Given the description of an element on the screen output the (x, y) to click on. 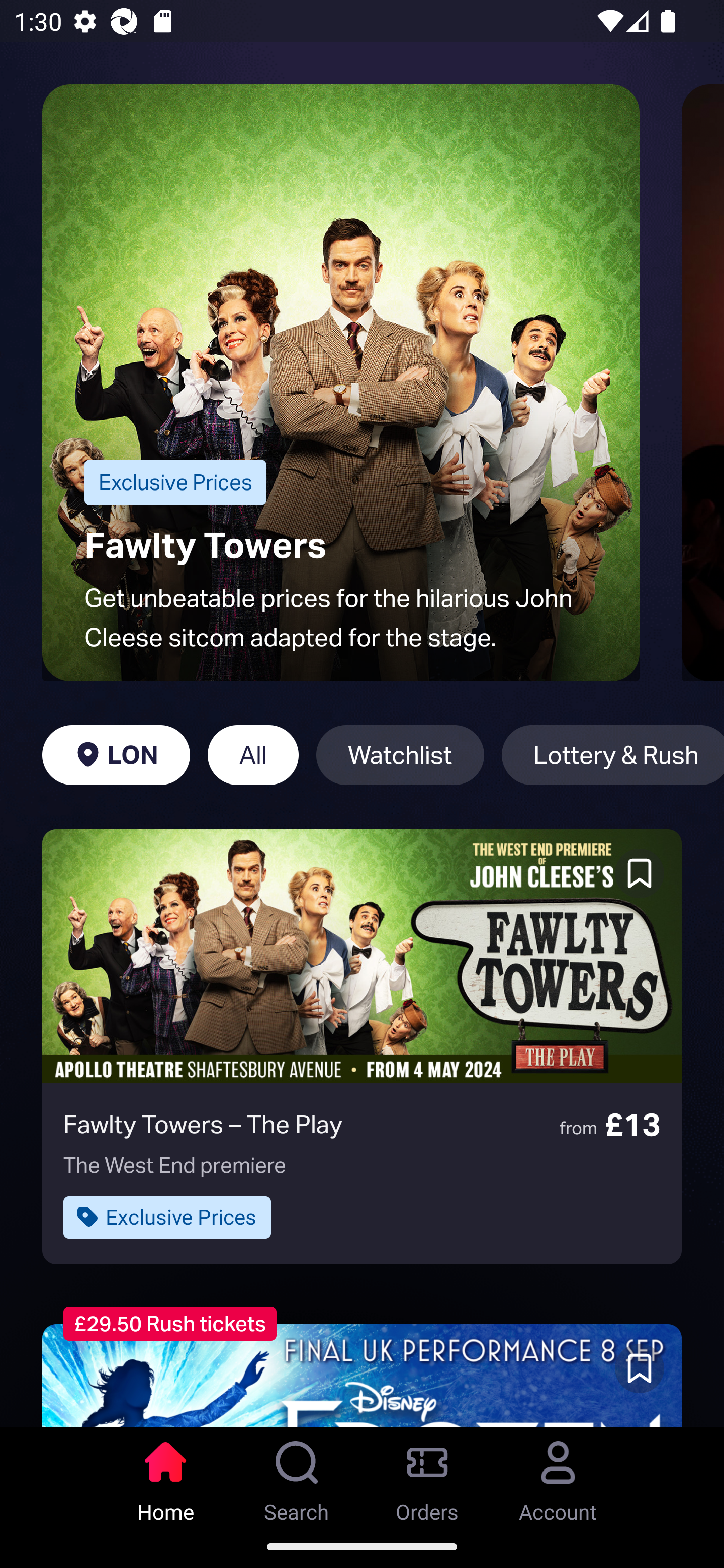
LON (115, 754)
All (252, 754)
Watchlist (400, 754)
Lottery & Rush (612, 754)
Search (296, 1475)
Orders (427, 1475)
Account (558, 1475)
